Given the description of an element on the screen output the (x, y) to click on. 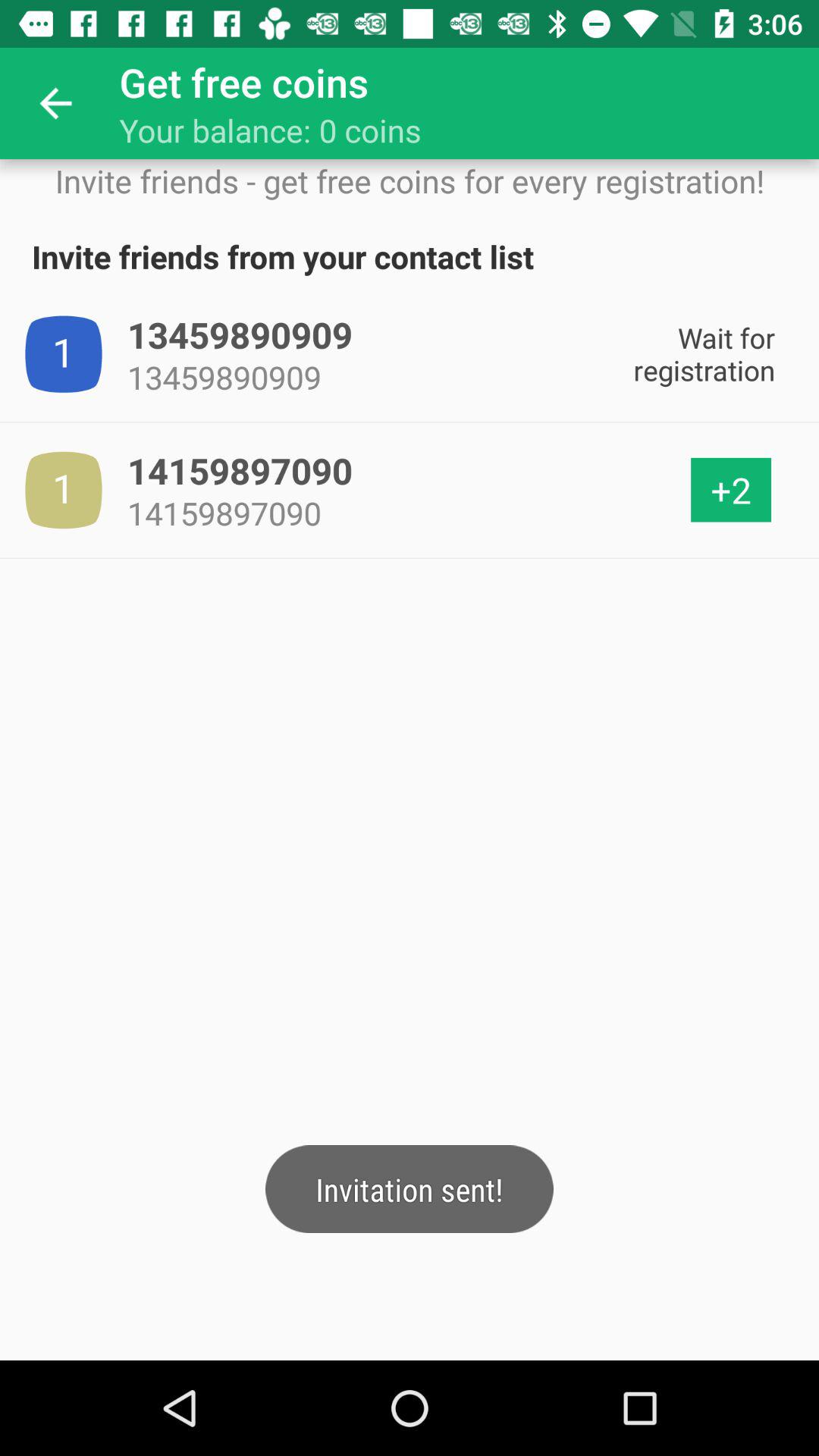
click on the 2 button (731, 490)
